Given the description of an element on the screen output the (x, y) to click on. 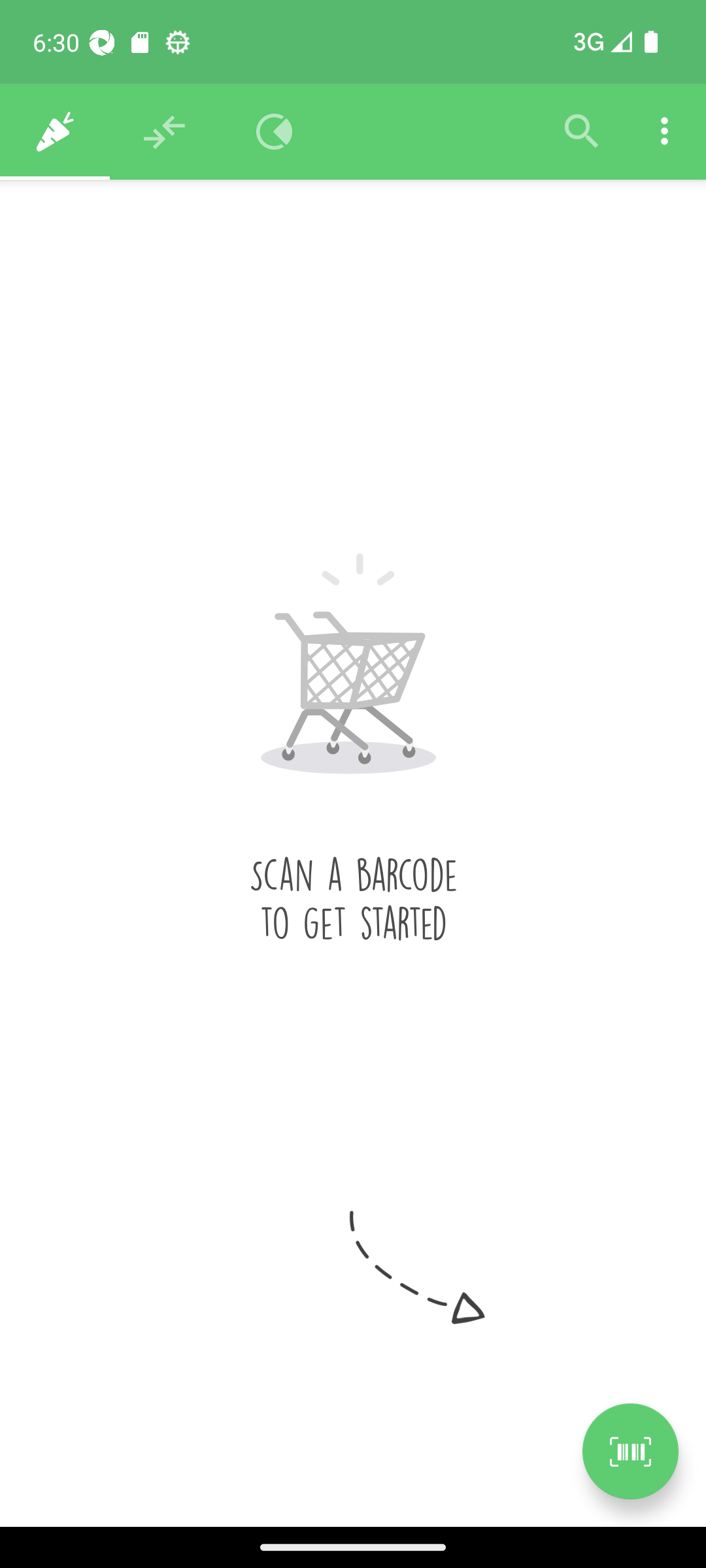
Recommendations (164, 131)
Overview (274, 131)
Filter (581, 131)
Settings (664, 131)
Scan a product (630, 1451)
